Given the description of an element on the screen output the (x, y) to click on. 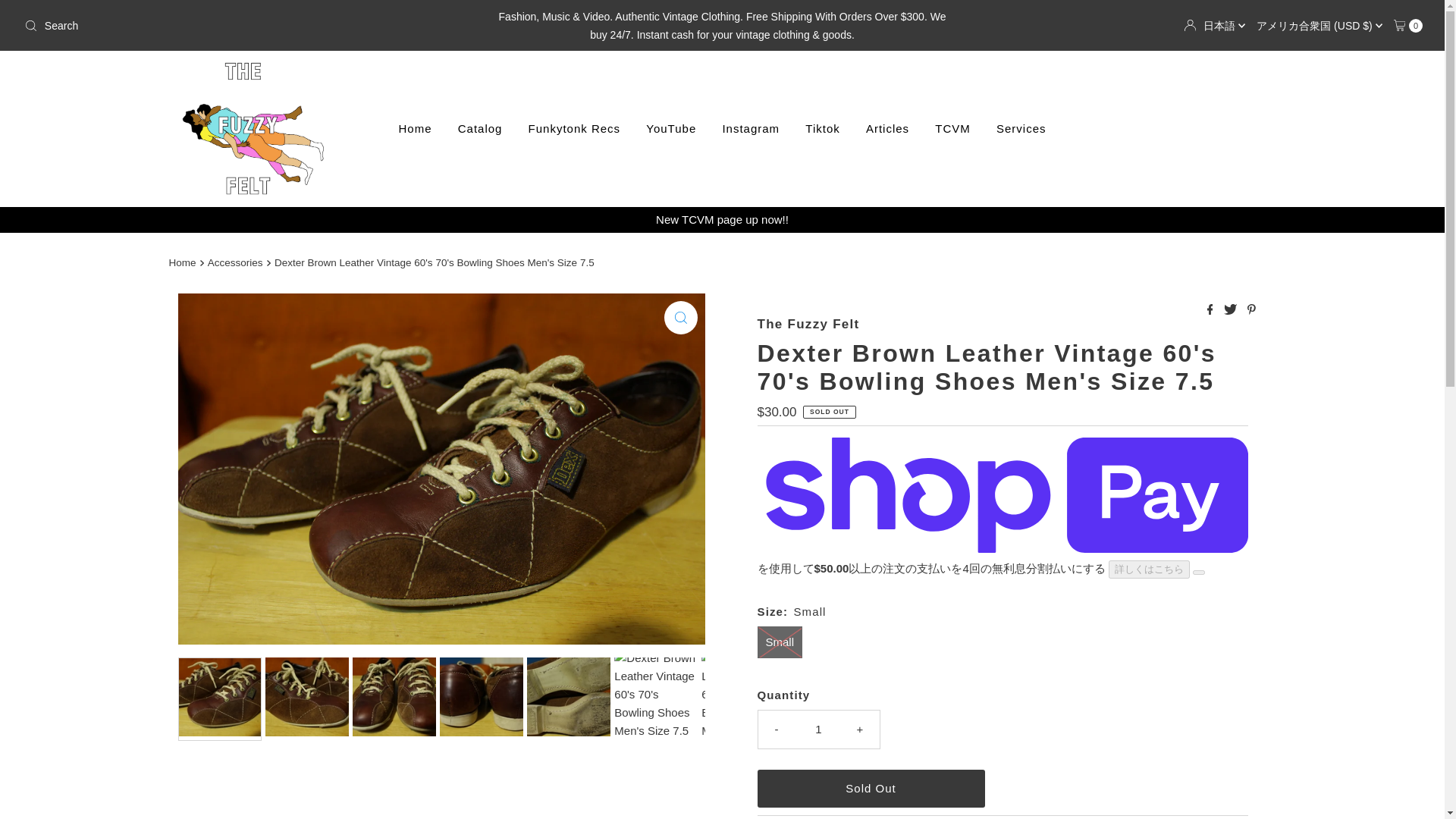
Sold Out (870, 787)
Search our store (248, 25)
1 (818, 728)
